Given the description of an element on the screen output the (x, y) to click on. 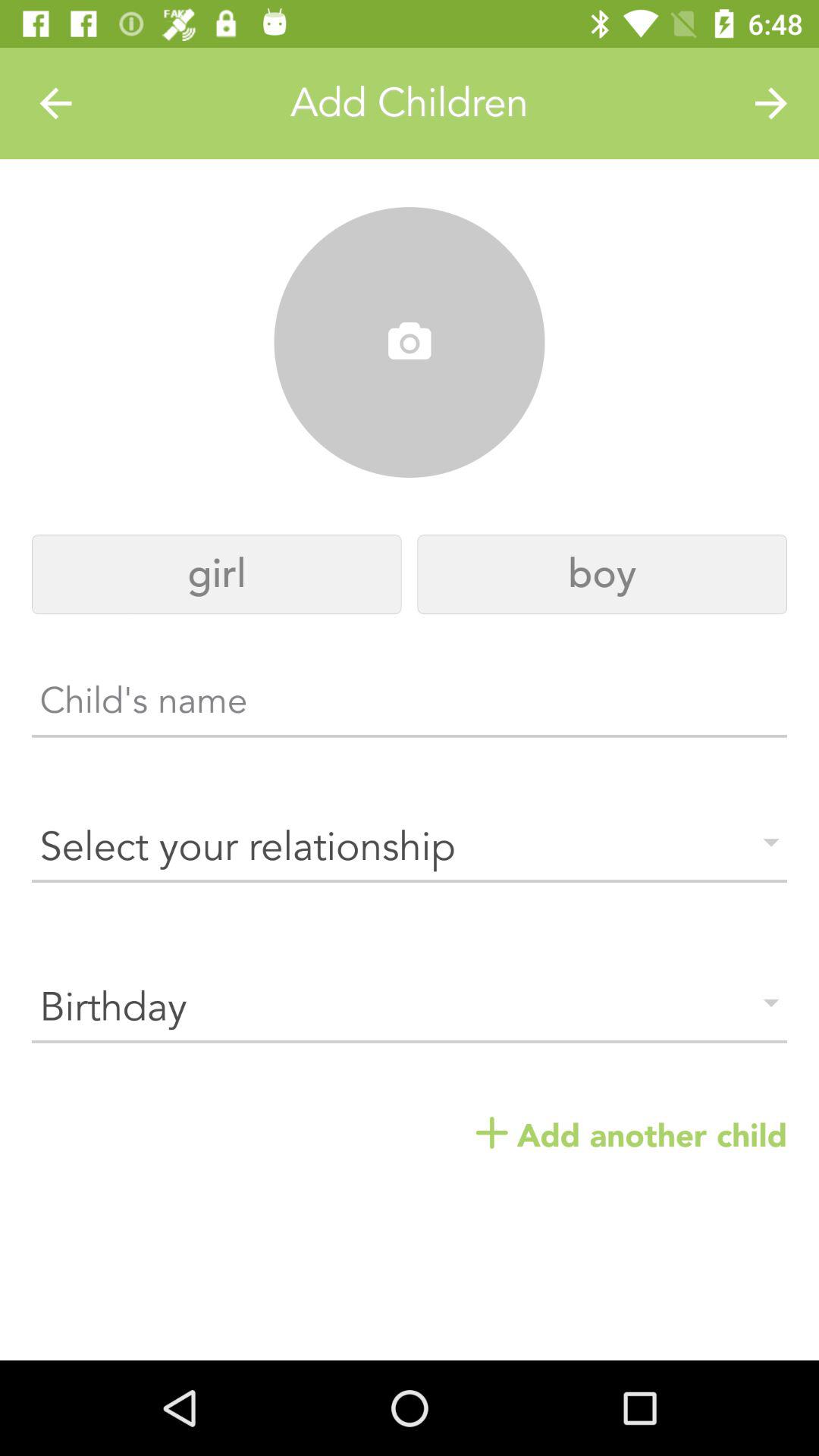
turn off the boy item (602, 574)
